Given the description of an element on the screen output the (x, y) to click on. 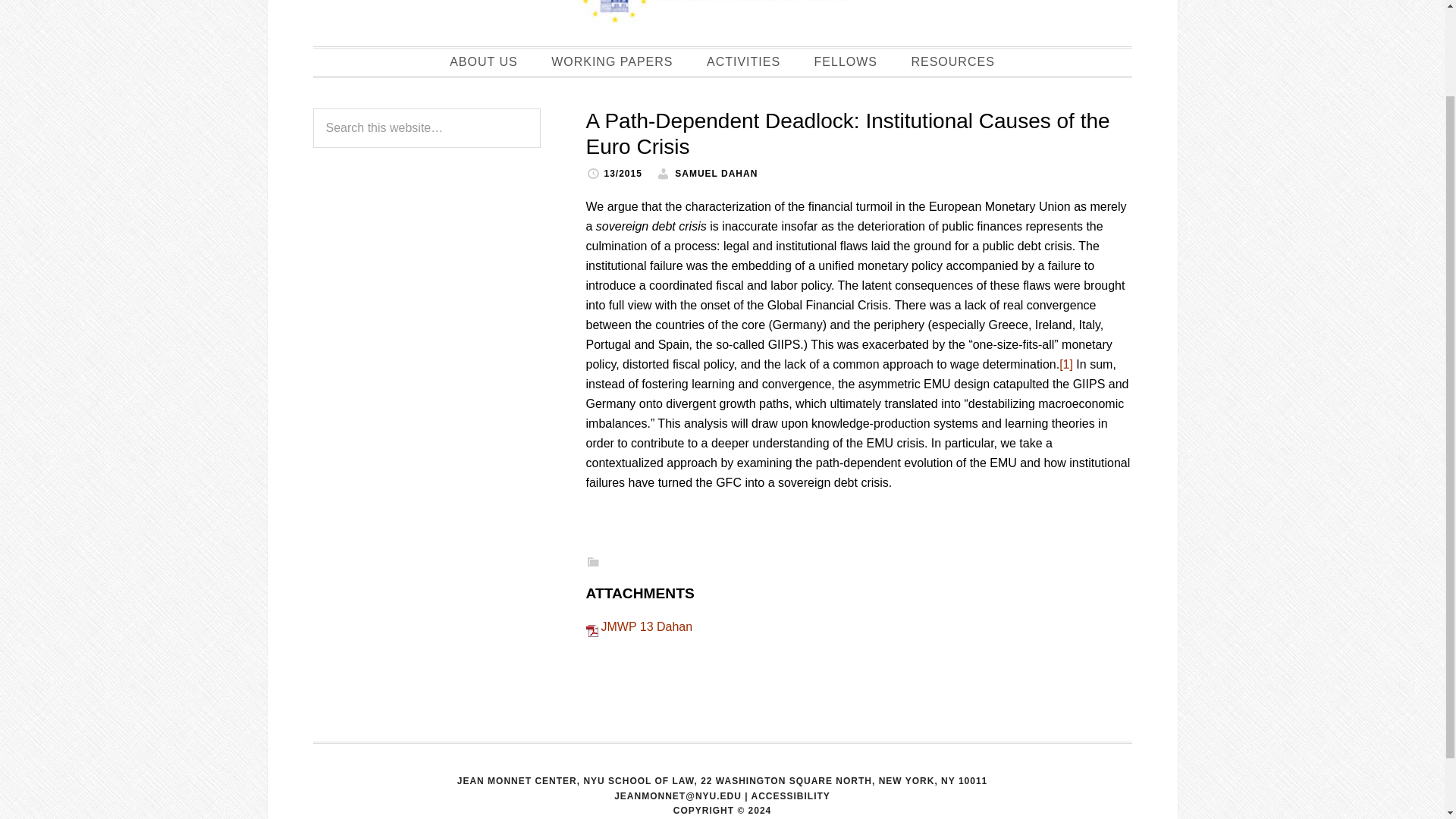
ACTIVITIES (742, 62)
FELLOWS (845, 62)
ABOUT US (483, 62)
JMWP 13 Dahan (646, 626)
ACCESSIBILITY (790, 796)
THE JEAN MONNET PROGRAM (721, 15)
RESOURCES (951, 62)
WORKING PAPERS (611, 62)
